Given the description of an element on the screen output the (x, y) to click on. 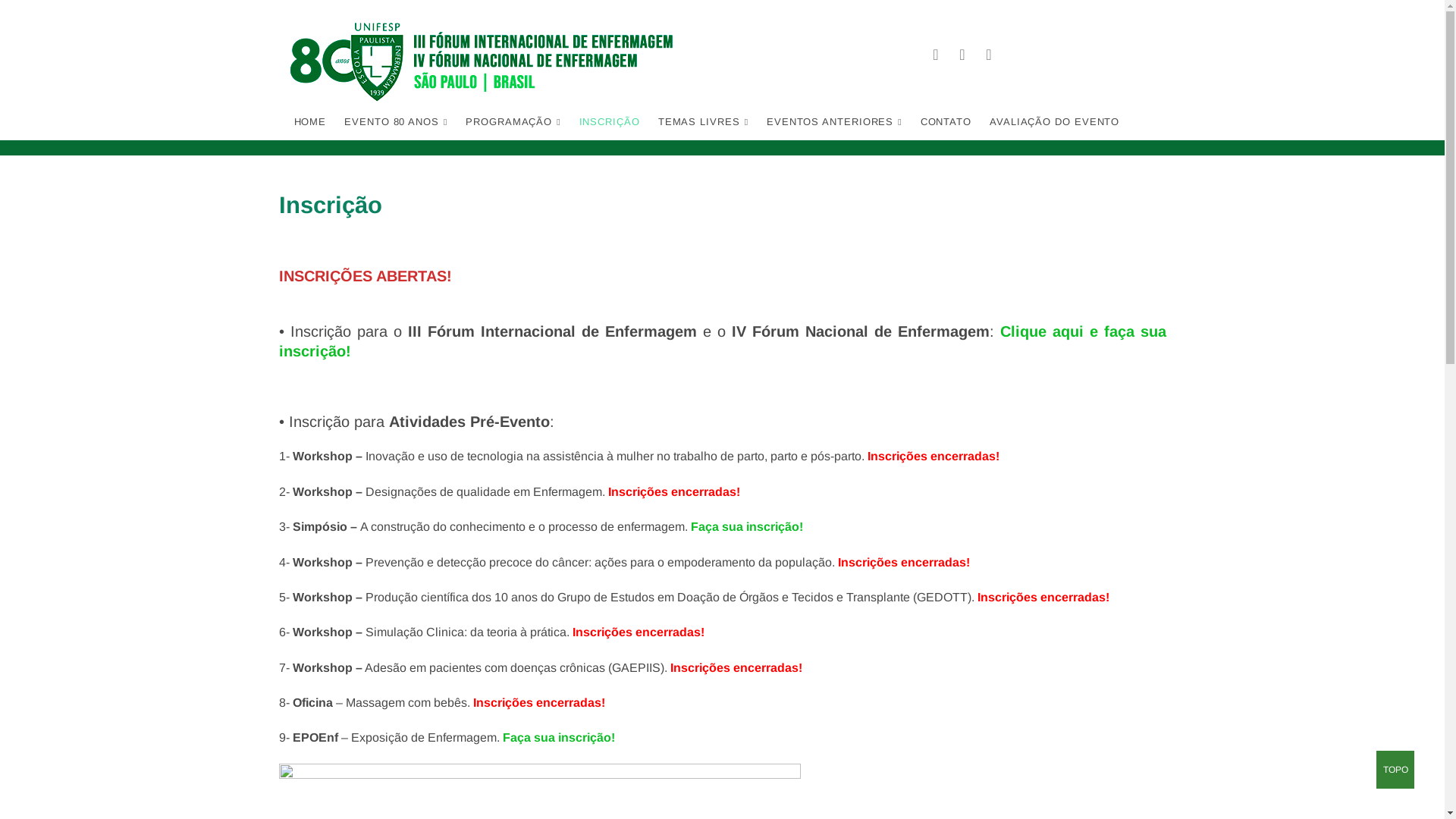
HOME Element type: text (310, 121)
EVENTOS ANTERIORES Element type: text (834, 121)
Instagram Element type: text (988, 54)
English Element type: hover (1144, 26)
Spanish Element type: hover (1159, 26)
Facebook Element type: text (935, 54)
TEMAS LIVRES Element type: text (703, 121)
CONTATO Element type: text (946, 121)
Twitter Element type: text (962, 54)
TOPO Element type: text (1395, 769)
EVENTO 80 ANOS Element type: text (395, 121)
